Given the description of an element on the screen output the (x, y) to click on. 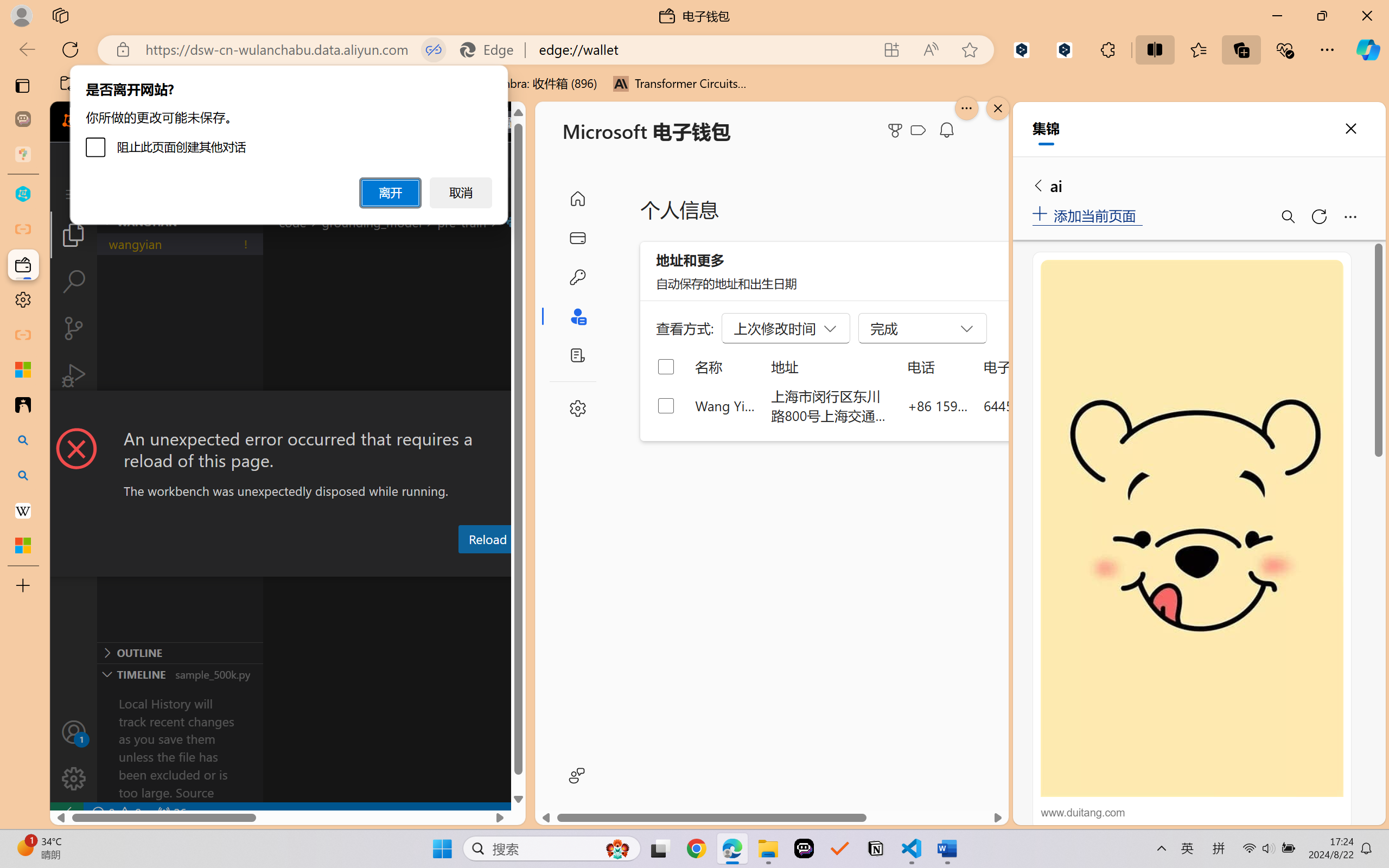
Earth - Wikipedia (22, 510)
Terminal (Ctrl+`) (553, 565)
Microsoft security help and learning (22, 369)
Wang Yian (725, 405)
